Given the description of an element on the screen output the (x, y) to click on. 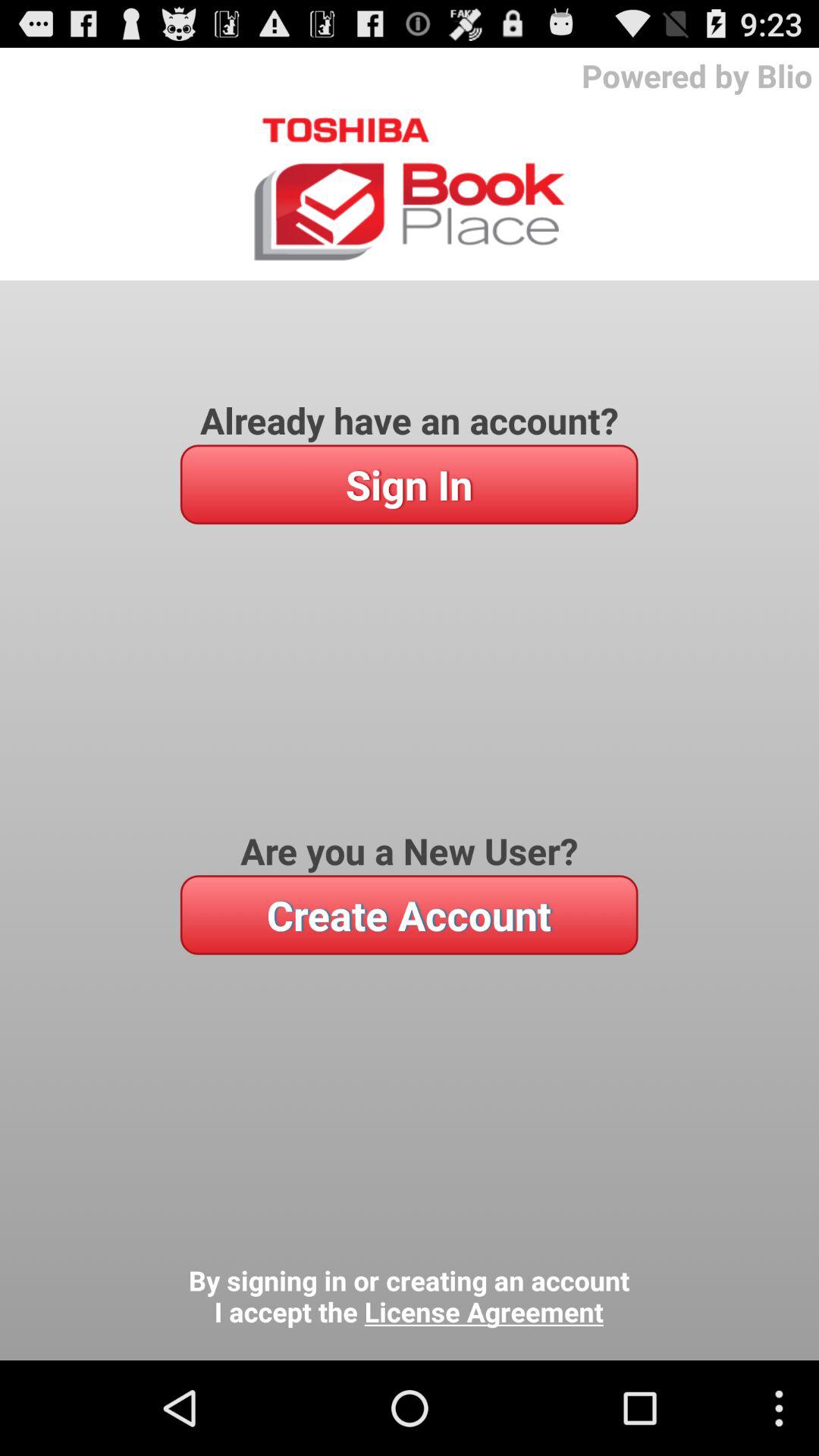
press the by signing in at the bottom (408, 1296)
